Given the description of an element on the screen output the (x, y) to click on. 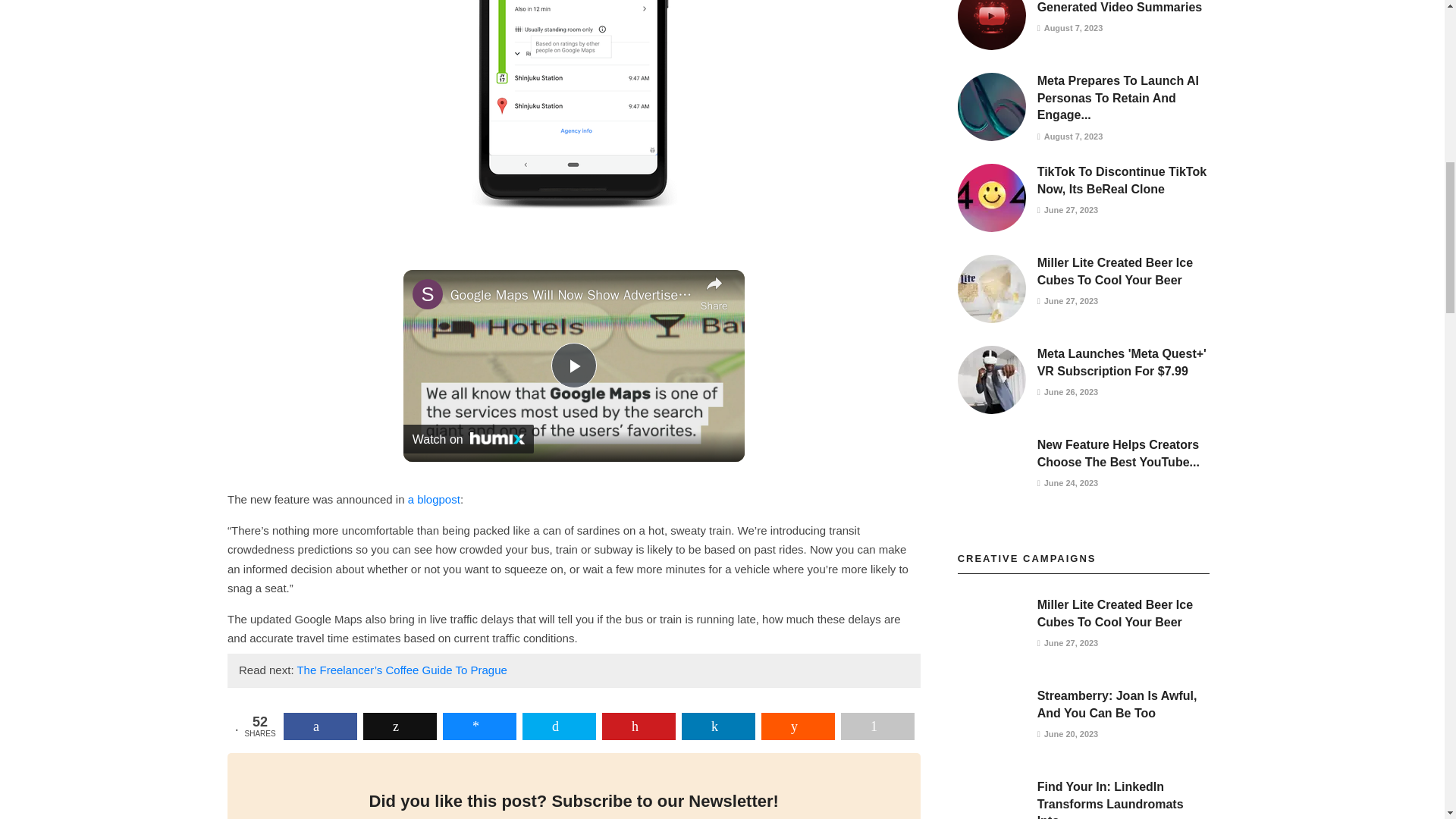
Play Video (573, 365)
